Given the description of an element on the screen output the (x, y) to click on. 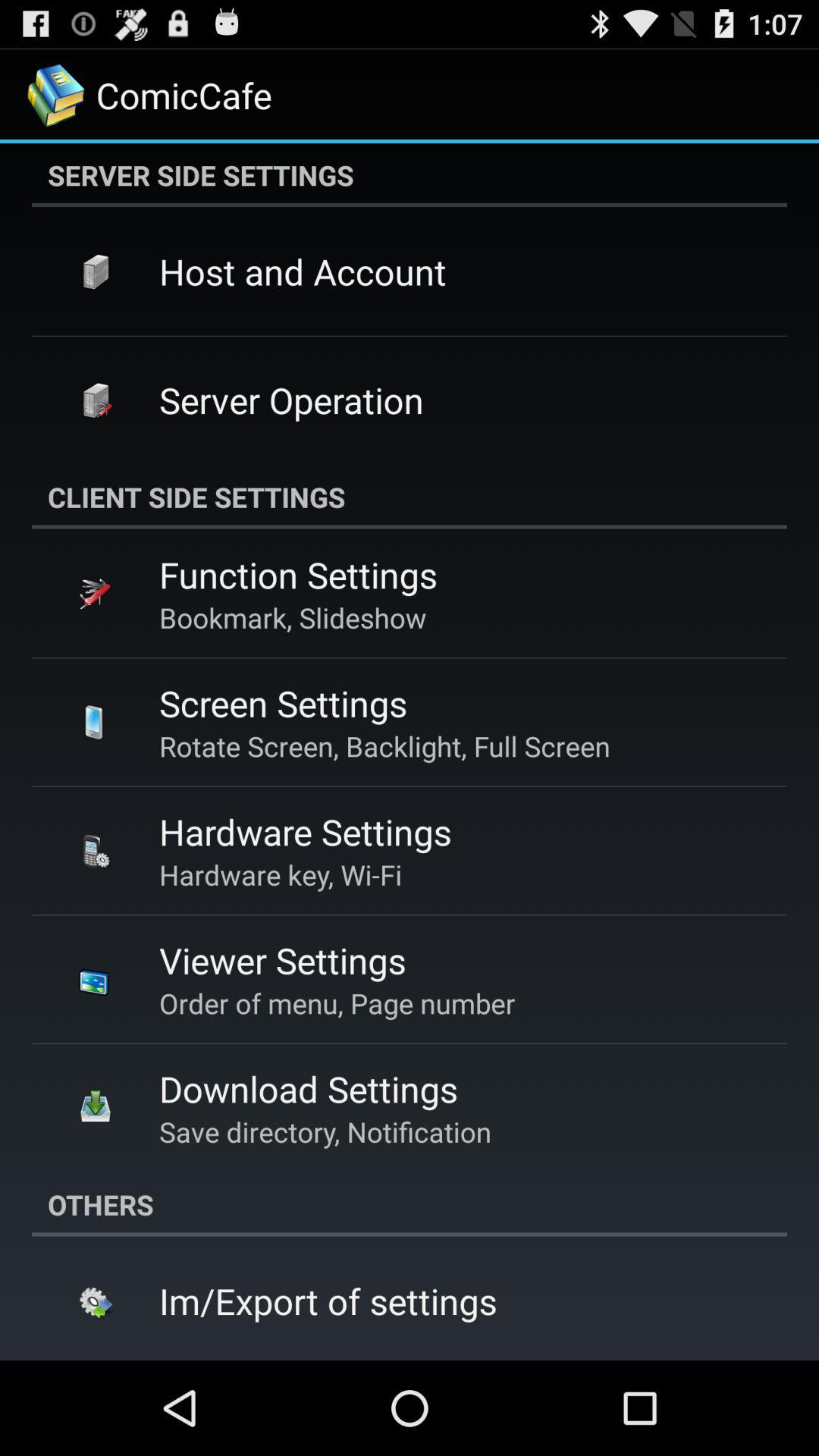
press the rotate screen backlight app (384, 745)
